Given the description of an element on the screen output the (x, y) to click on. 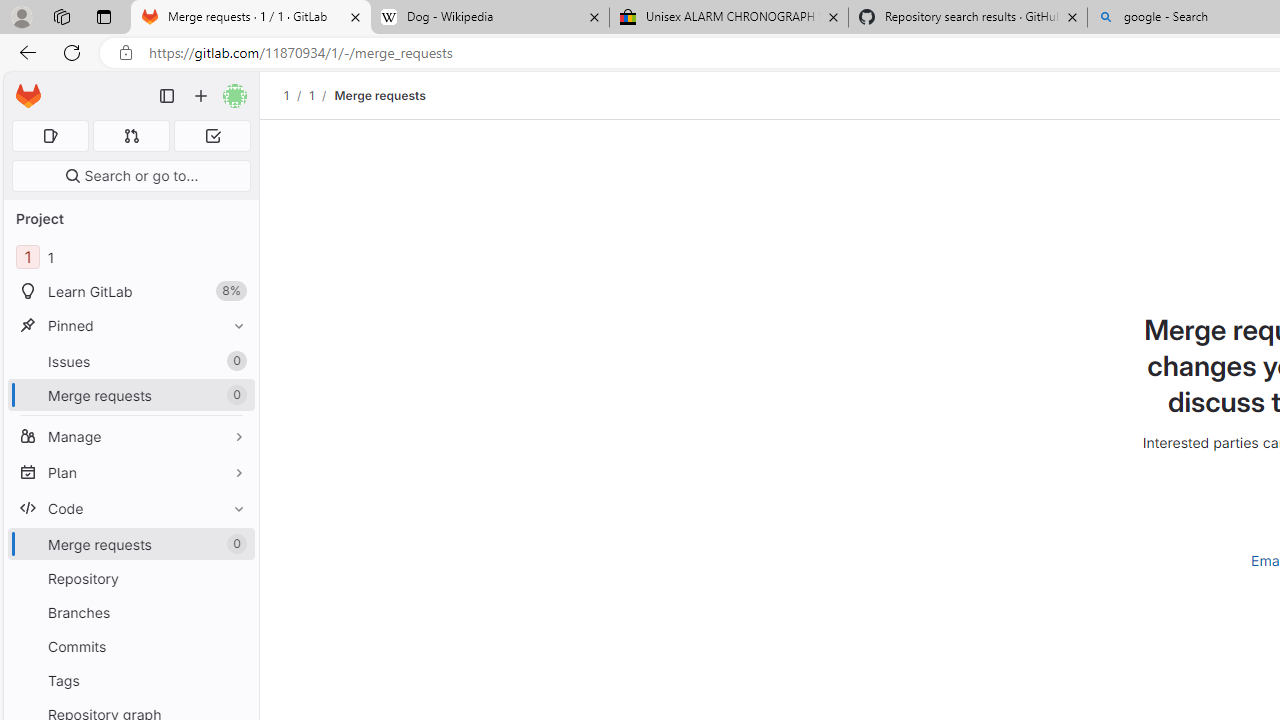
Manage (130, 435)
Dog - Wikipedia (490, 17)
Merge requests (380, 95)
Issues0 (130, 361)
Pin Tags (234, 680)
Issues 0 (130, 361)
Assigned issues 0 (50, 136)
Plan (130, 471)
To-Do list 0 (212, 136)
Repository (130, 578)
Commits (130, 646)
